Given the description of an element on the screen output the (x, y) to click on. 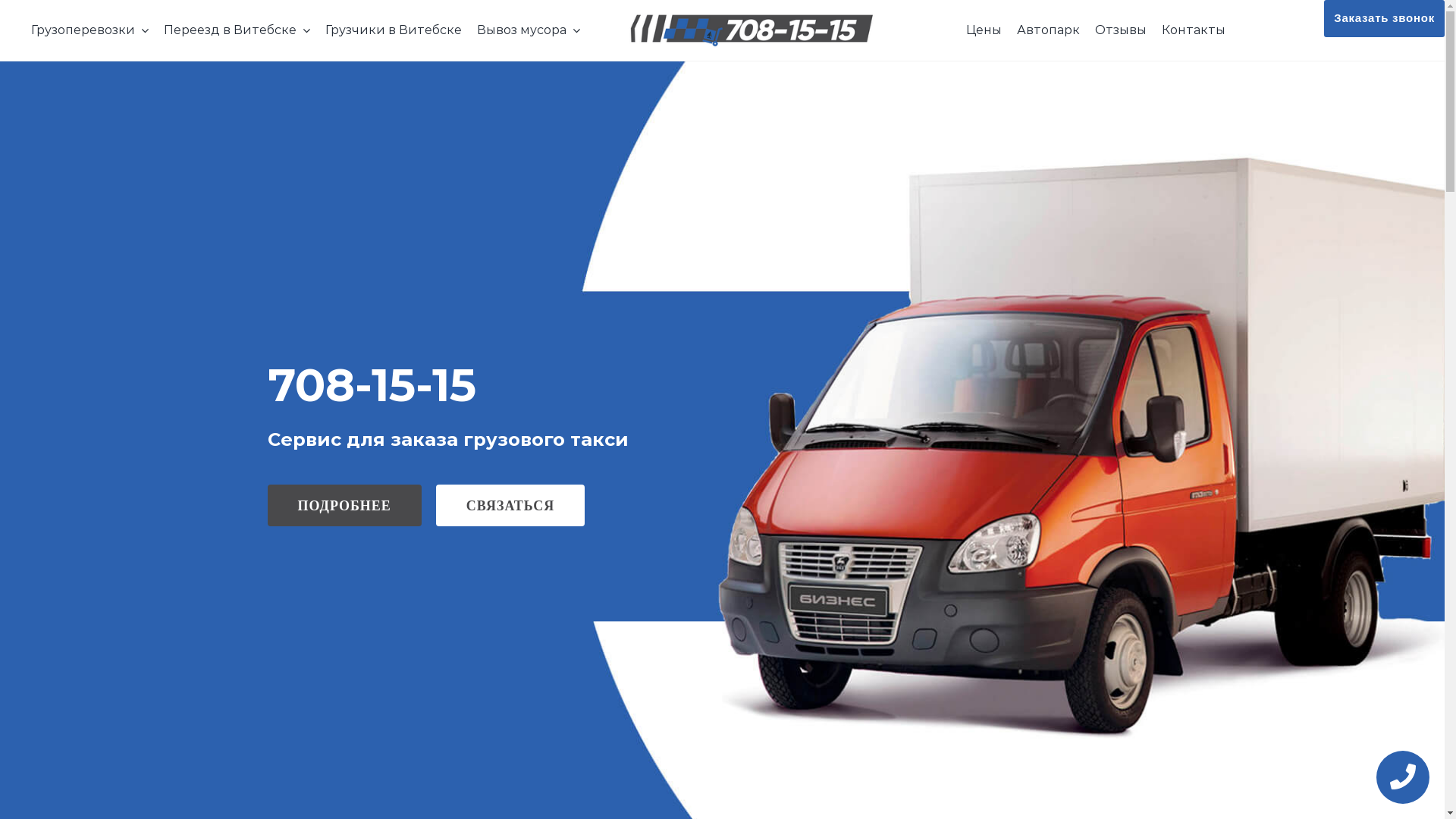
708-15-15 Element type: text (370, 383)
